Given the description of an element on the screen output the (x, y) to click on. 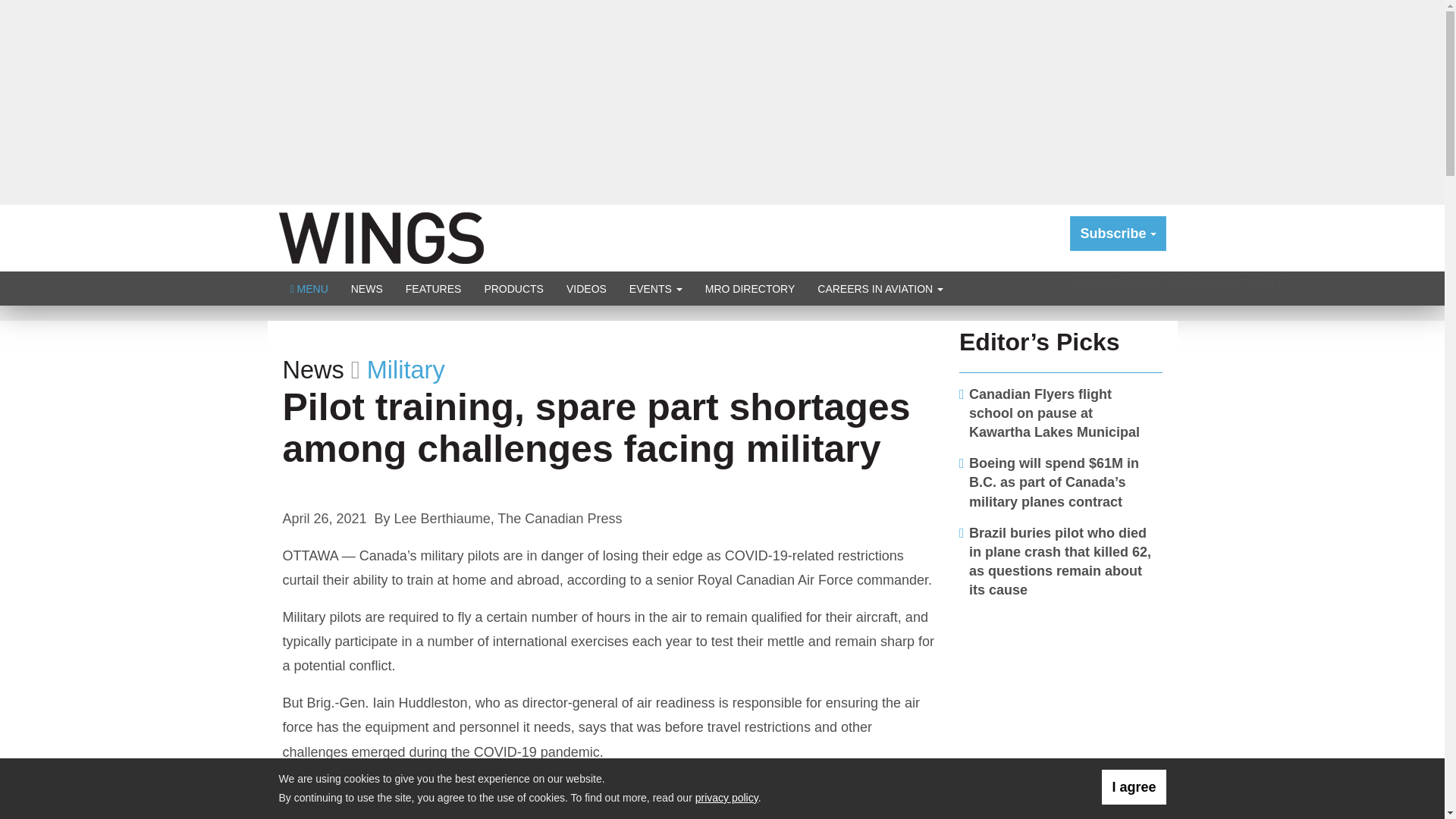
Subscribe (1118, 233)
Wings Magazine (381, 237)
Click to show site navigation (309, 288)
3rd party ad content (1060, 706)
EVENTS (655, 288)
MRO DIRECTORY (750, 288)
FEATURES (433, 288)
VIDEOS (585, 288)
NEWS (366, 288)
